Given the description of an element on the screen output the (x, y) to click on. 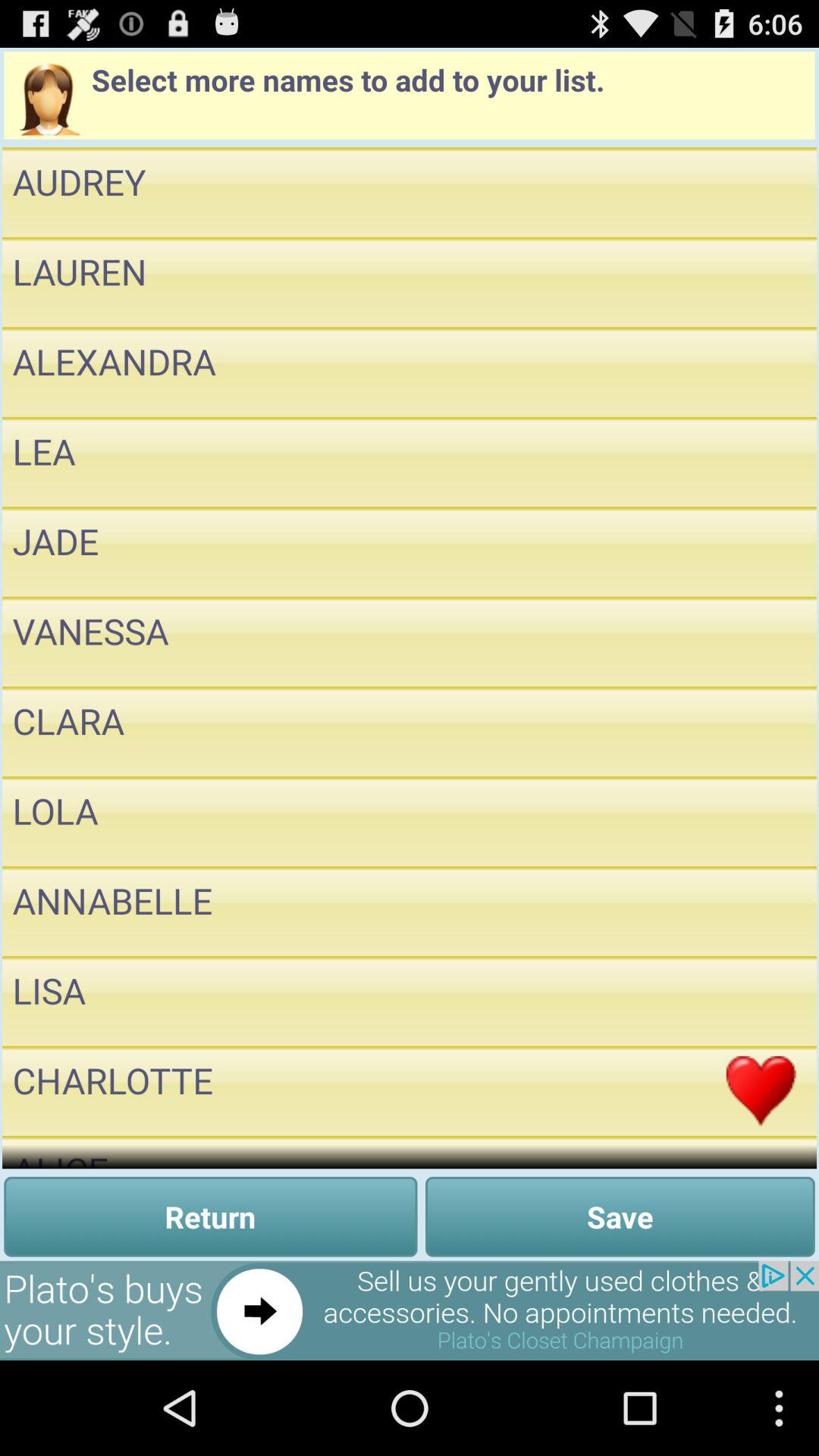
open selected name (761, 821)
